Given the description of an element on the screen output the (x, y) to click on. 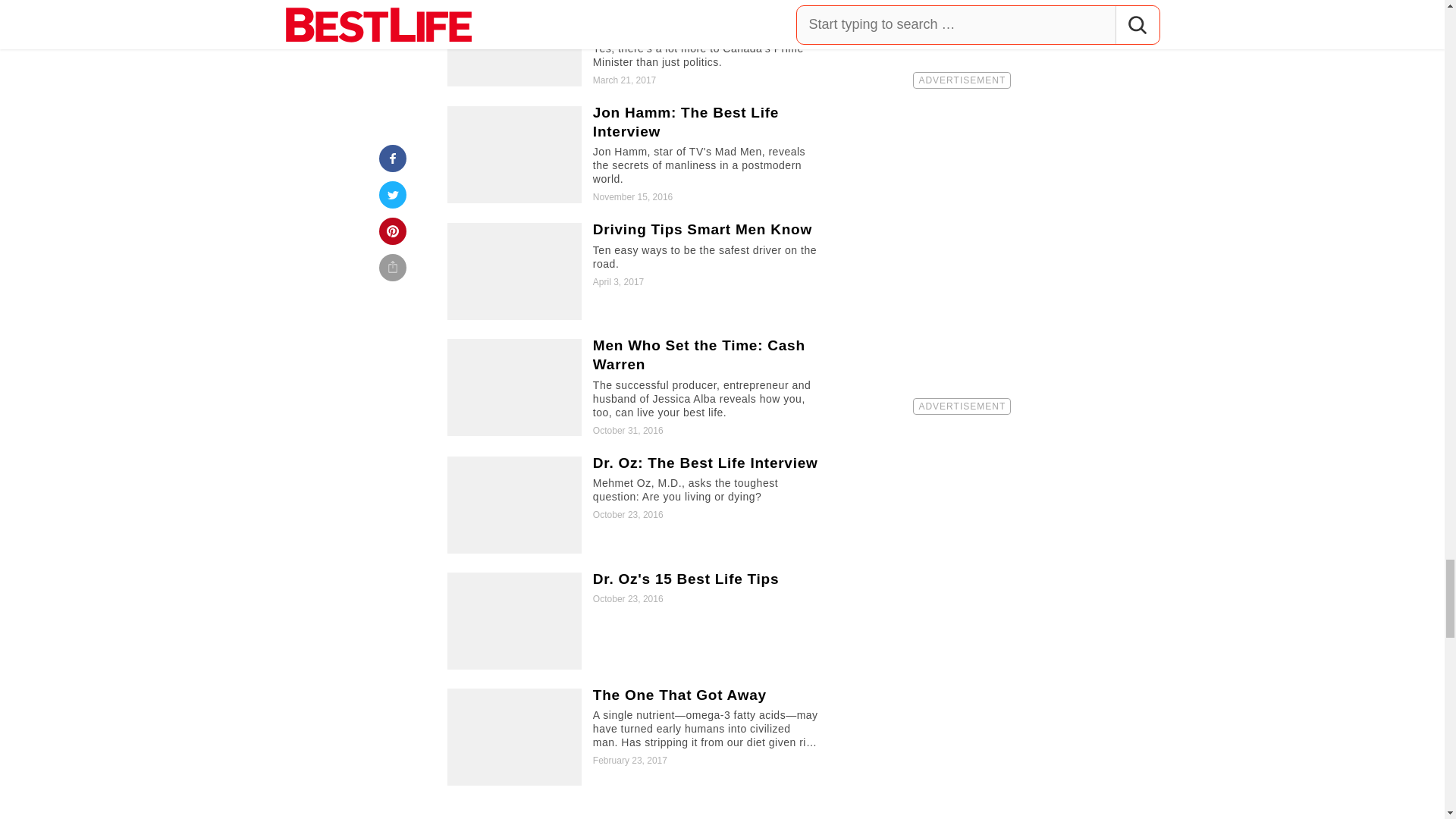
Men Who Set the Time: Cash Warren (635, 387)
Jon Hamm: The Best Life Interview (635, 154)
Driving Tips Smart Men Know (635, 271)
Dr. Oz's 15 Best Life Tips (635, 620)
10 Things You Didn't Know about Justin Trudeau (635, 43)
Dr. Oz: The Best Life Interview (635, 504)
